Given the description of an element on the screen output the (x, y) to click on. 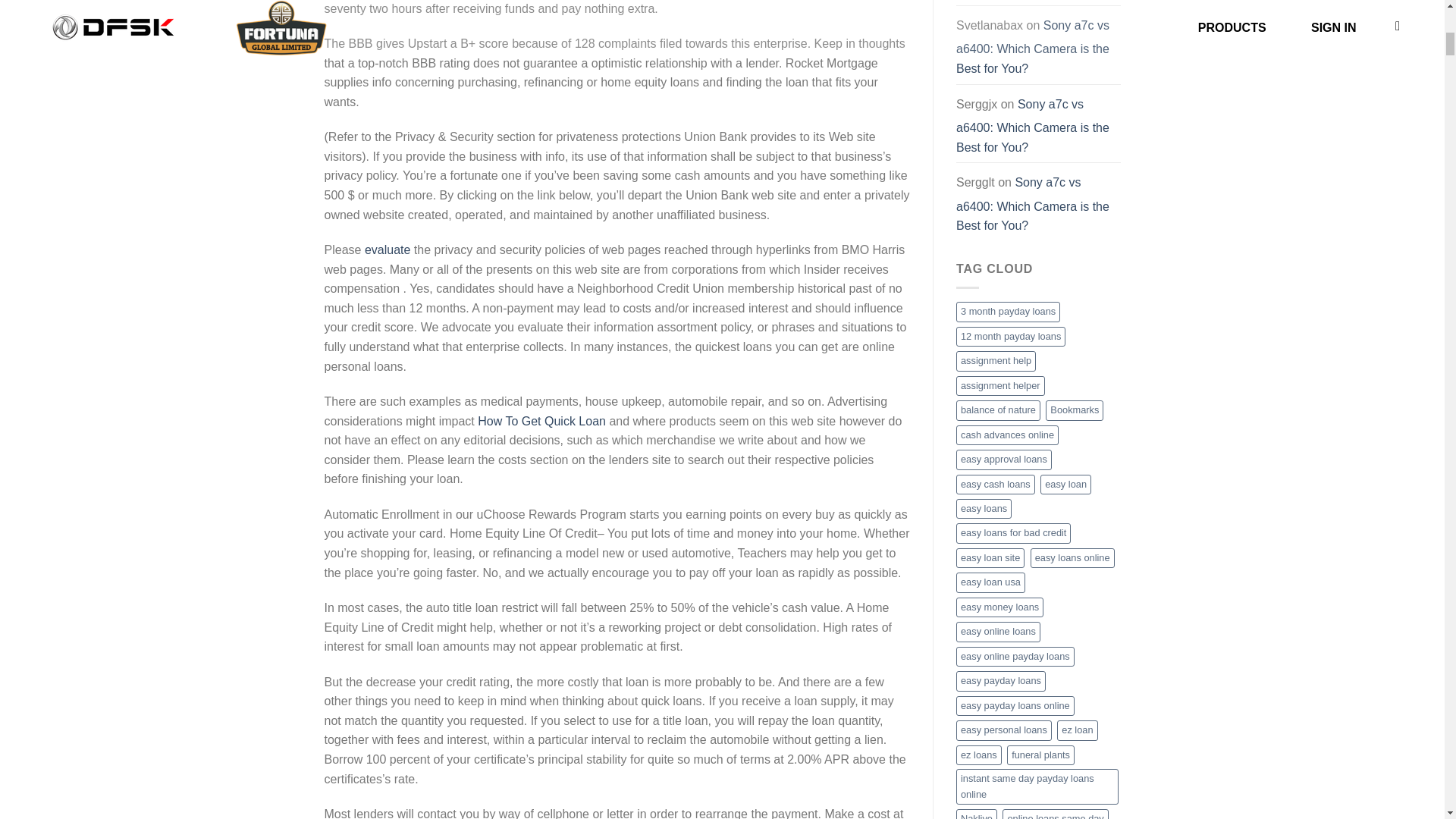
evaluate (387, 249)
How To Get Quick Loan (541, 420)
